Given the description of an element on the screen output the (x, y) to click on. 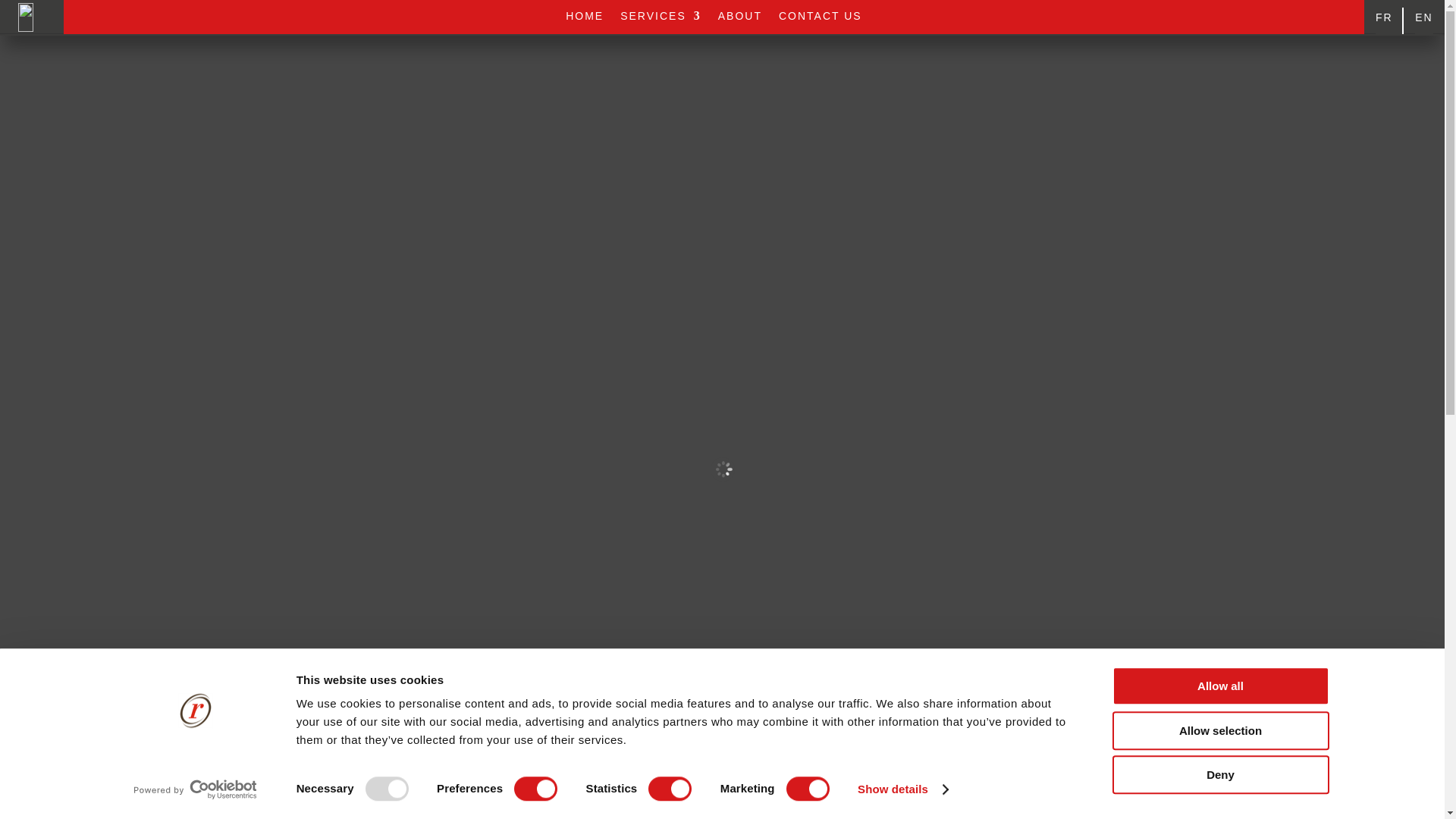
Deny (1219, 774)
icon-reference-systemes-blanc (25, 17)
Allow selection (1219, 730)
SERVICES (660, 18)
Show details (902, 789)
Allow all (1219, 685)
HOME (585, 18)
